Given the description of an element on the screen output the (x, y) to click on. 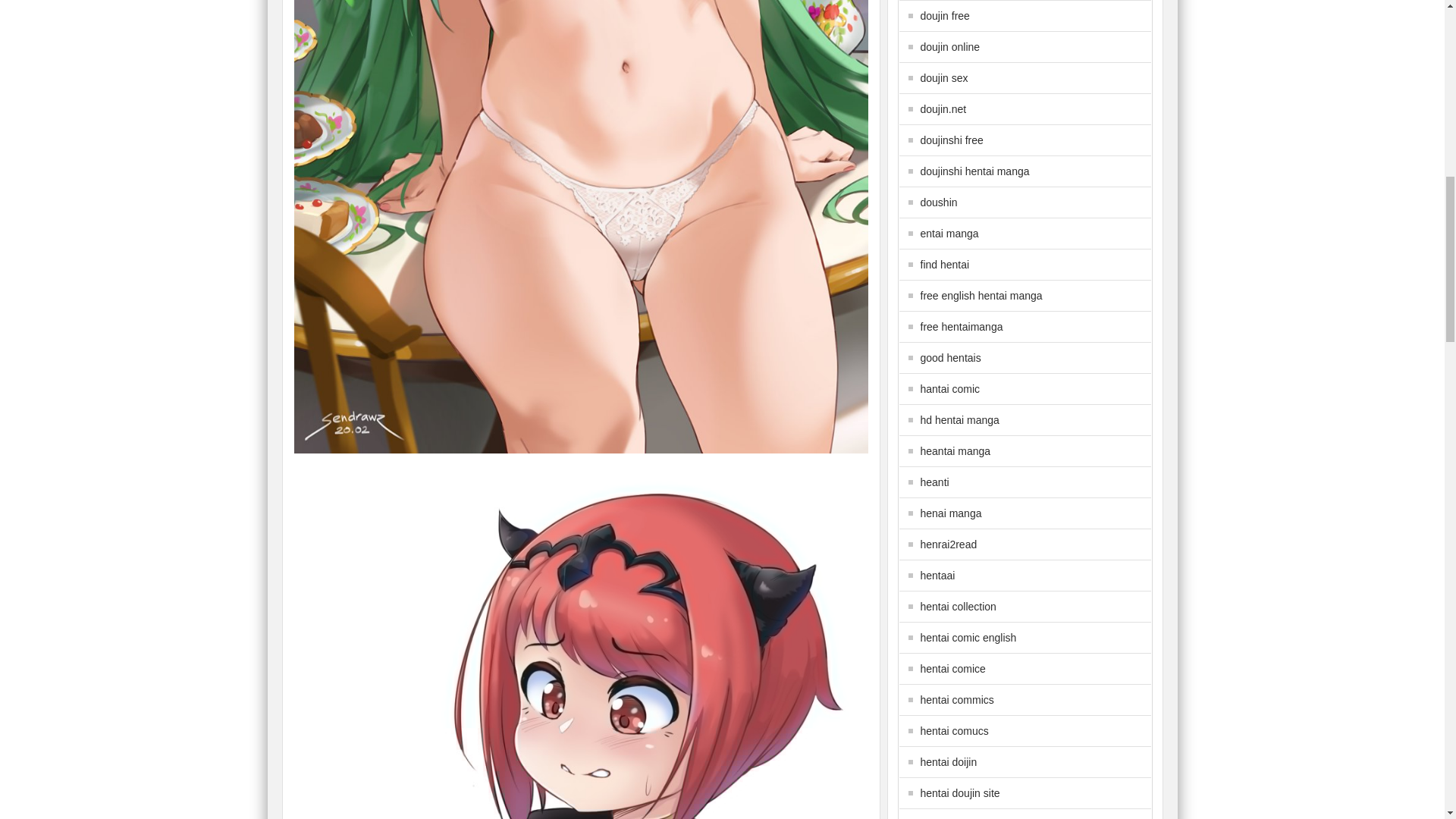
doujin free (938, 15)
doujin sex (938, 78)
doujin online (943, 46)
doujinshi hentai manga (968, 171)
doujinshi free (946, 140)
doujin.net (937, 109)
